Given the description of an element on the screen output the (x, y) to click on. 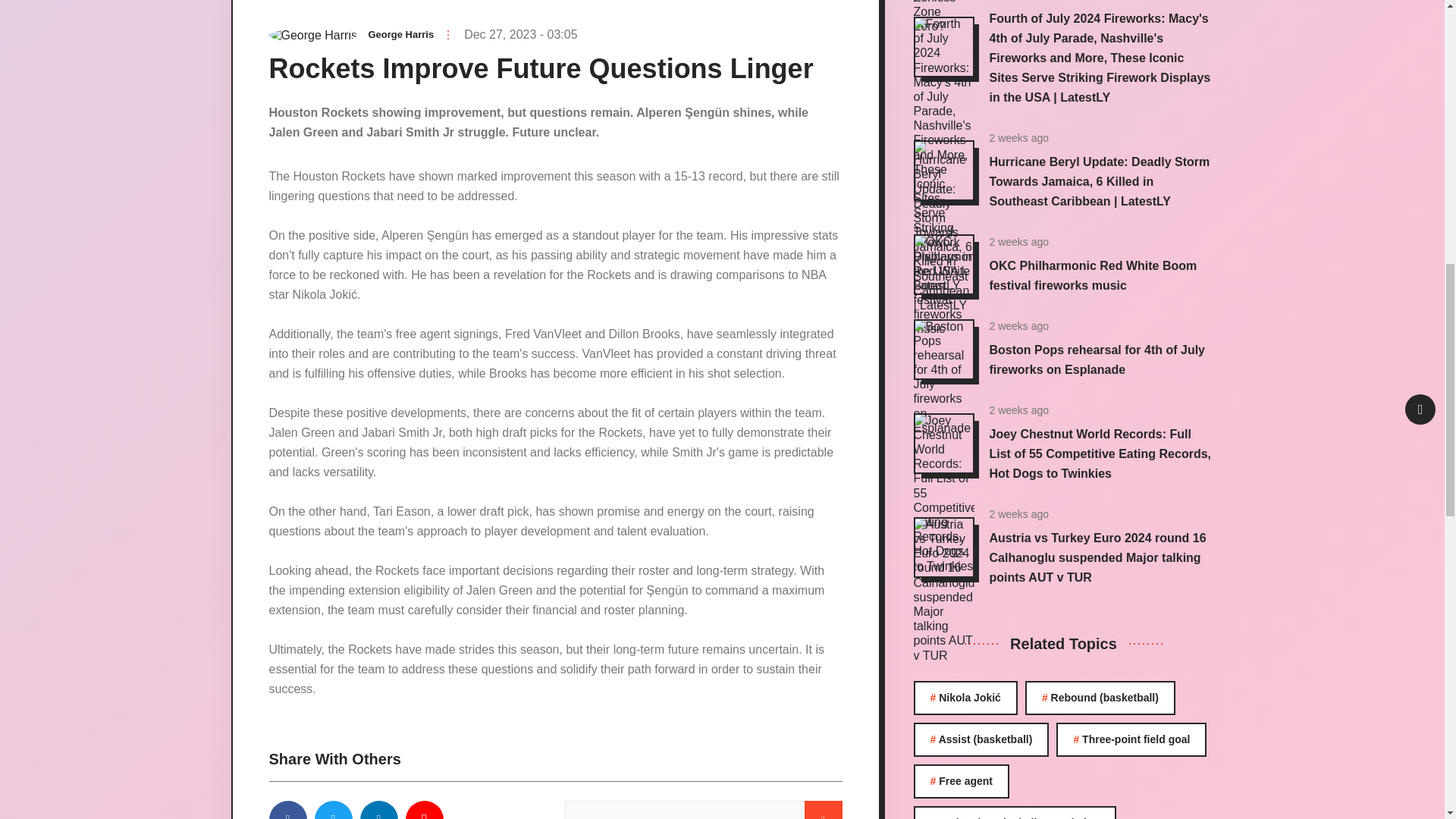
OKC Philharmonic Red White Boom festival fireworks music (1092, 275)
George Harris (400, 34)
